Given the description of an element on the screen output the (x, y) to click on. 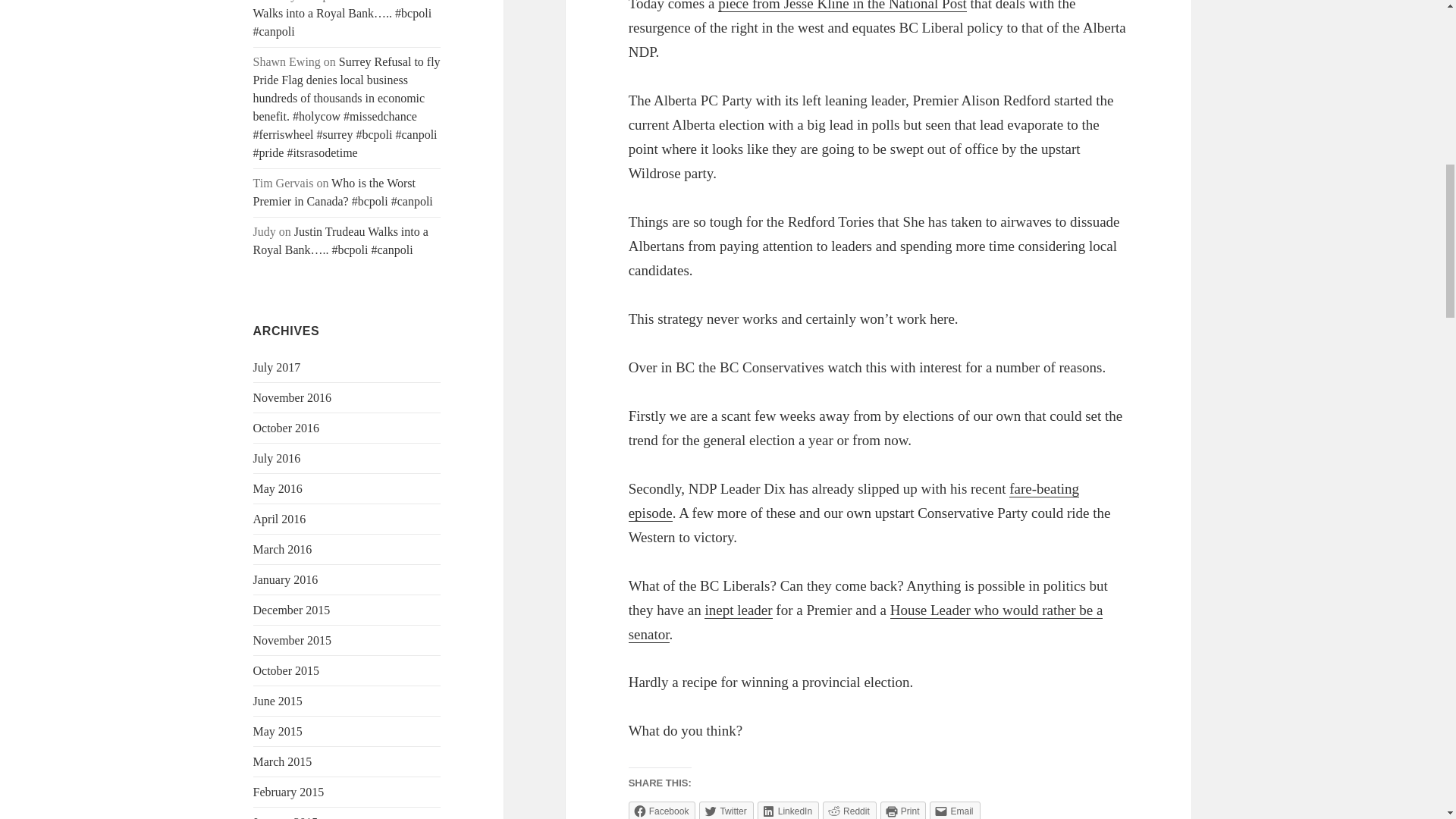
May 2015 (277, 730)
March 2016 (283, 549)
November 2015 (292, 640)
April 2016 (279, 518)
October 2015 (286, 670)
December 2015 (291, 609)
June 2015 (277, 700)
Click to share on Reddit (849, 810)
May 2016 (277, 488)
March 2015 (283, 761)
